Given the description of an element on the screen output the (x, y) to click on. 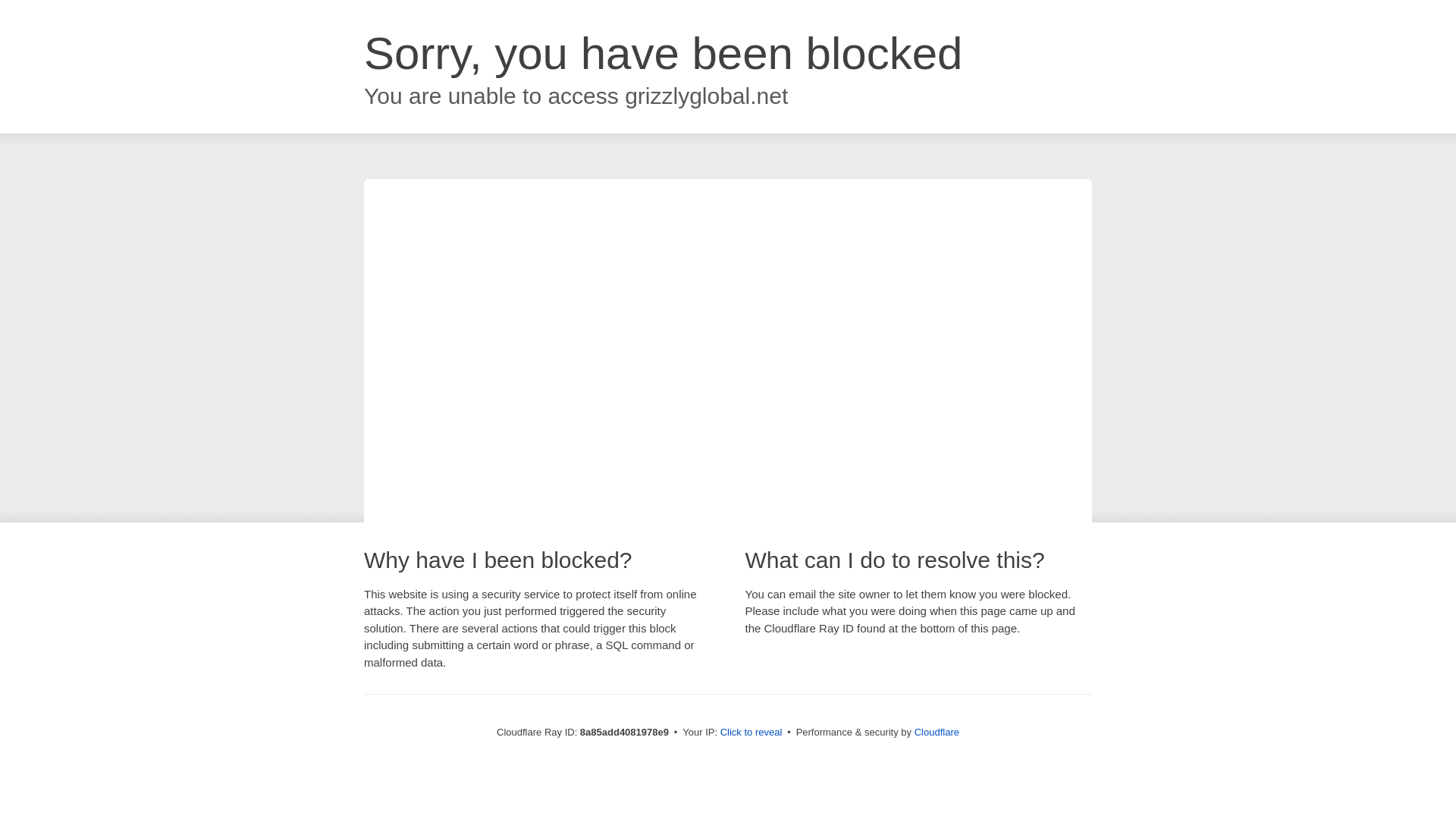
Cloudflare (936, 731)
Click to reveal (751, 732)
